Given the description of an element on the screen output the (x, y) to click on. 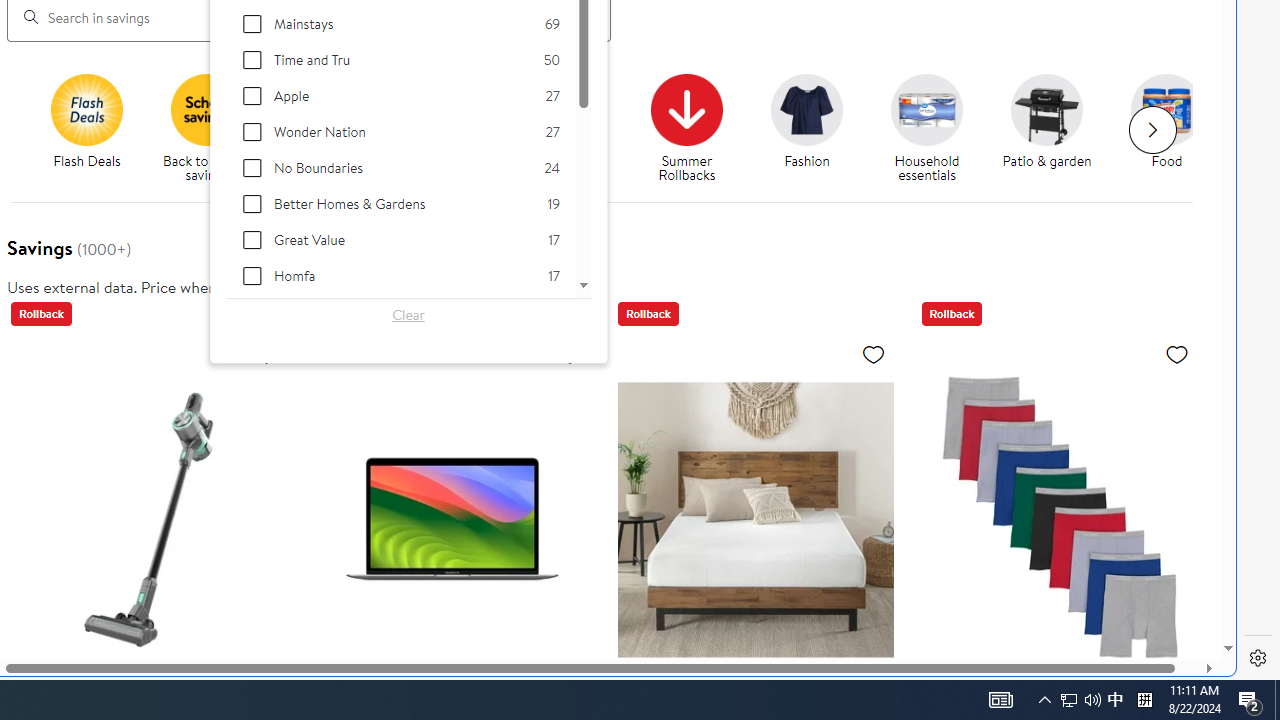
Patio & garden Patio & garden (1046, 122)
Flash deals (86, 109)
Food (1174, 128)
Back to College savings (326, 109)
$20 & under (454, 128)
Back to school savings (214, 128)
Flash Deals (94, 128)
Fashion Fashion (806, 122)
Flash deals Flash Deals (86, 122)
Get it today (566, 109)
Hanes Men's Super Value Pack Assorted Boxer Briefs, 10 Pack (1058, 519)
